Given the description of an element on the screen output the (x, y) to click on. 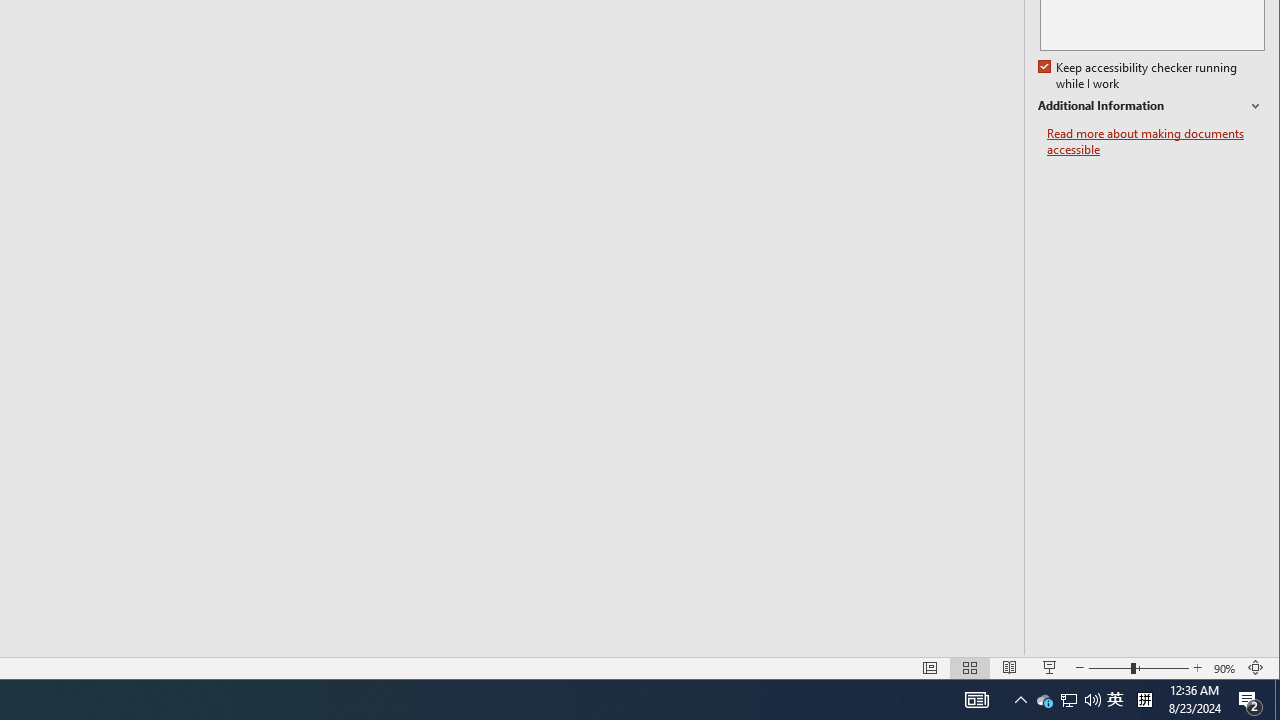
Zoom 90% (1225, 668)
